Given the description of an element on the screen output the (x, y) to click on. 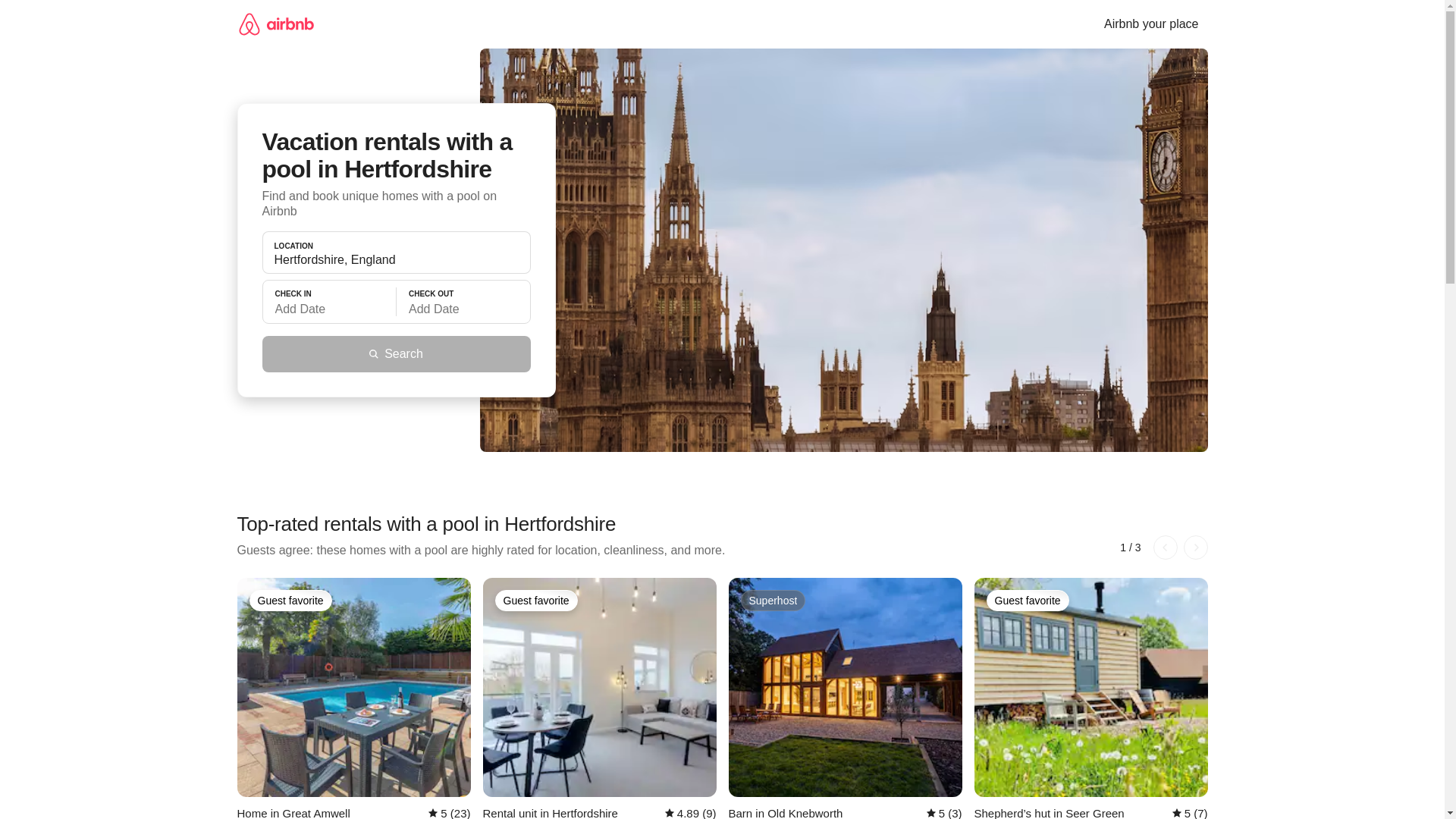
Search (396, 353)
Airbnb your place (1151, 23)
Hertfordshire, England (396, 259)
